Given the description of an element on the screen output the (x, y) to click on. 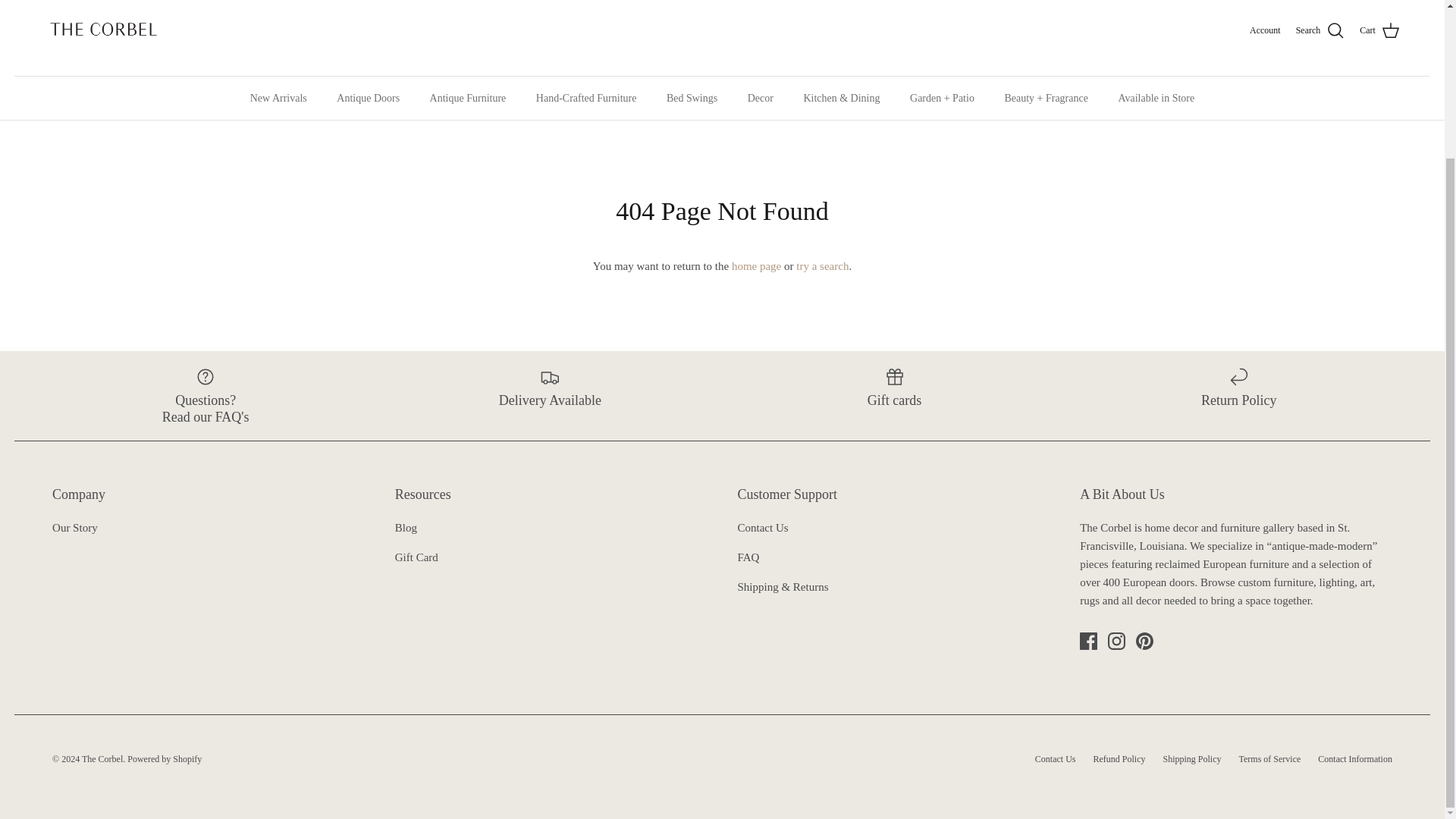
Hand-Crafted Furniture (586, 97)
Shipping Policy (782, 586)
Antique Furniture (467, 97)
Antique Doors (368, 97)
Our Story (74, 527)
New Arrivals (277, 97)
FAQ (747, 557)
Blog (405, 527)
Pinterest (1144, 641)
Bed Swings (691, 97)
Instagram (1116, 641)
Facebook (1088, 641)
Decor (760, 97)
The Corbel (103, 30)
Search (1320, 30)
